Given the description of an element on the screen output the (x, y) to click on. 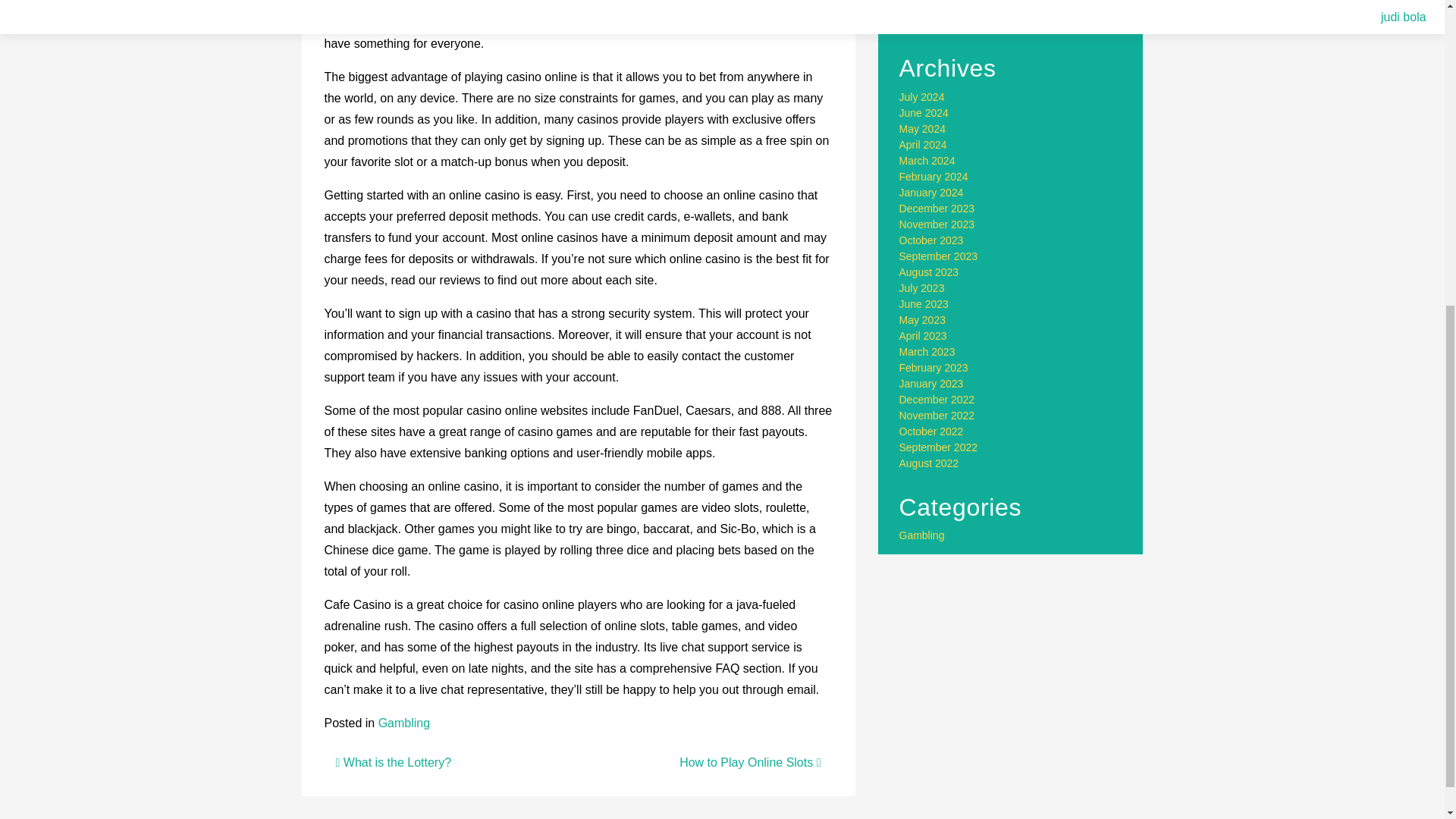
March 2024 (927, 160)
May 2023 (921, 319)
February 2024 (933, 176)
May 2024 (921, 128)
July 2024 (921, 96)
September 2022 (938, 447)
December 2022 (937, 399)
Lottery Benefits and Drawbacks (974, 8)
August 2023 (929, 272)
February 2023 (933, 367)
January 2023 (931, 383)
Keep Your Opponents Guessing (975, 24)
April 2023 (923, 336)
December 2023 (937, 208)
Gambling (403, 722)
